Given the description of an element on the screen output the (x, y) to click on. 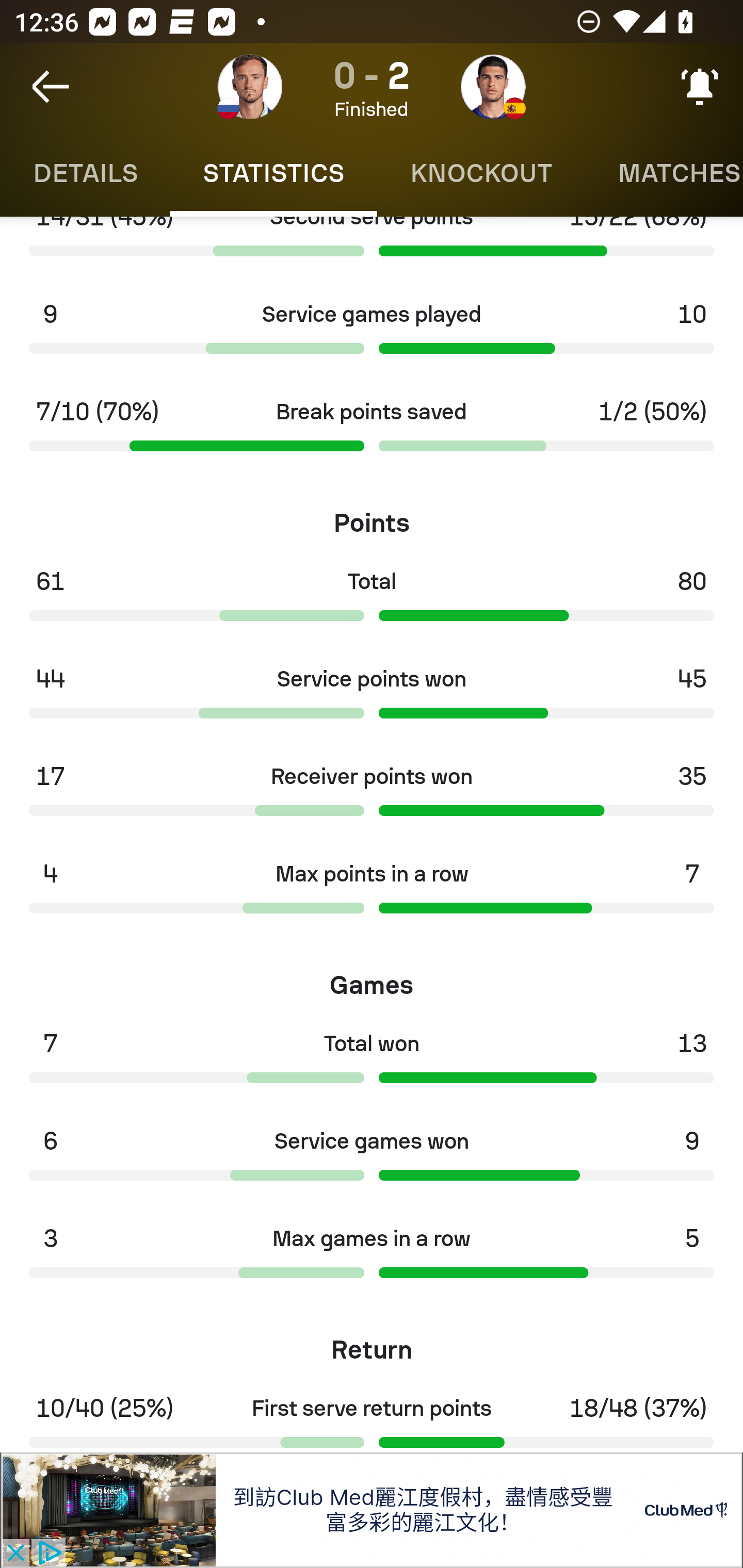
Navigate up (50, 86)
Details DETAILS (85, 173)
Knockout KNOCKOUT (480, 173)
Matches MATCHES (663, 173)
9 Service games played 10 473.0 526.0 (371, 333)
Points (371, 515)
61 Total 80 432.0 567.0 (371, 600)
44 Service points won 45 494.0 505.0 (371, 698)
17 Receiver points won 35 326.0 673.0 (371, 796)
4 Max points in a row 7 363.0 636.0 (371, 893)
Games (371, 978)
7 Total won 13 350.0 650.0 (371, 1062)
6 Service games won 9 400.0 600.0 (371, 1159)
3 Max games in a row 5 375.0 625.0 (371, 1257)
Return (371, 1343)
close_button (14, 1553)
privacy_small (47, 1553)
